Given the description of an element on the screen output the (x, y) to click on. 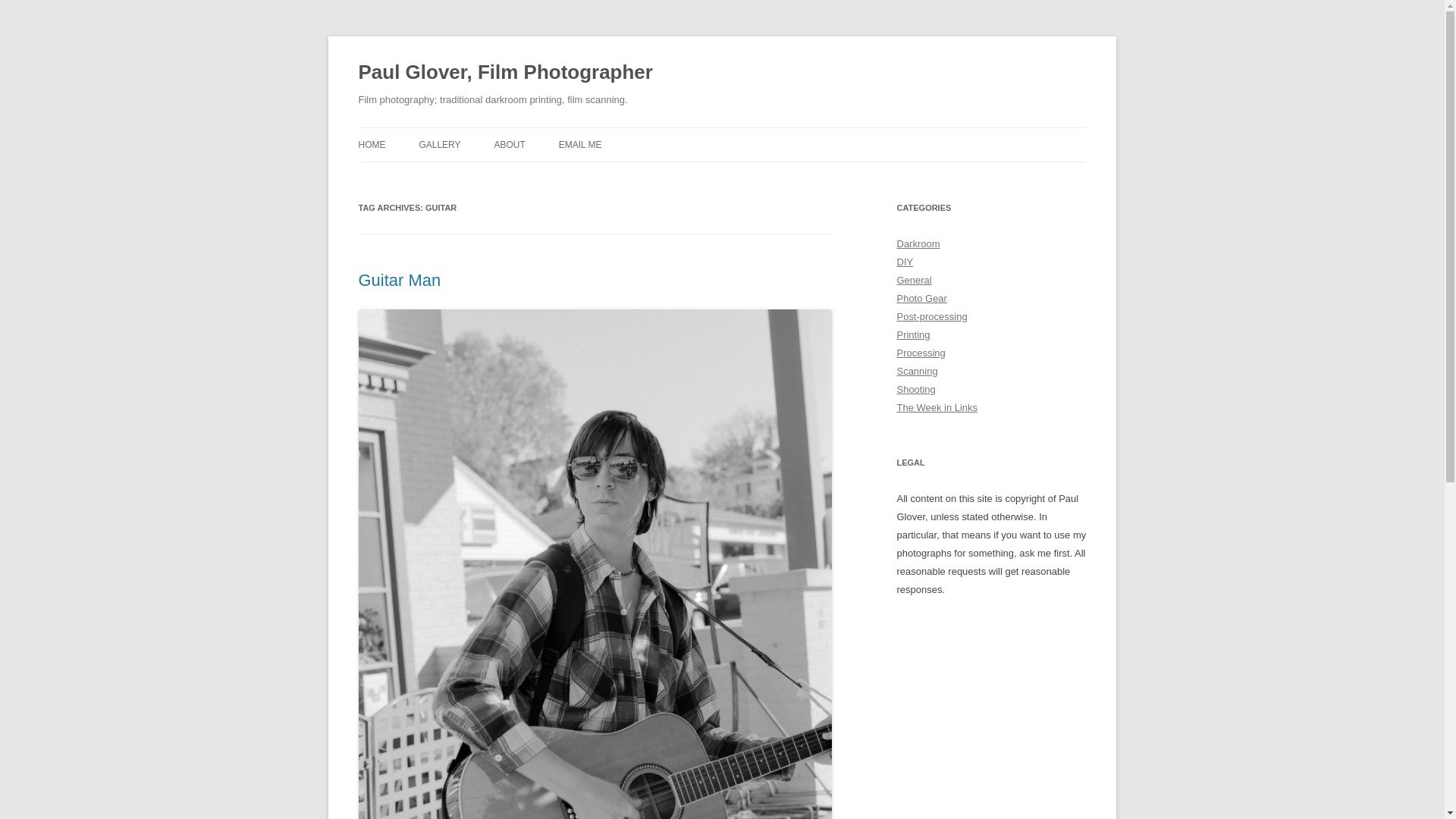
ABOUT (508, 144)
EMAIL ME (580, 144)
About me (508, 144)
Paul Glover, Film Photographer (505, 72)
Shooting (915, 389)
Post-processing (931, 316)
Processing (920, 352)
GALLERY (439, 144)
General (913, 279)
Printing (913, 334)
Email Me (580, 144)
Guitar Man (399, 280)
